Given the description of an element on the screen output the (x, y) to click on. 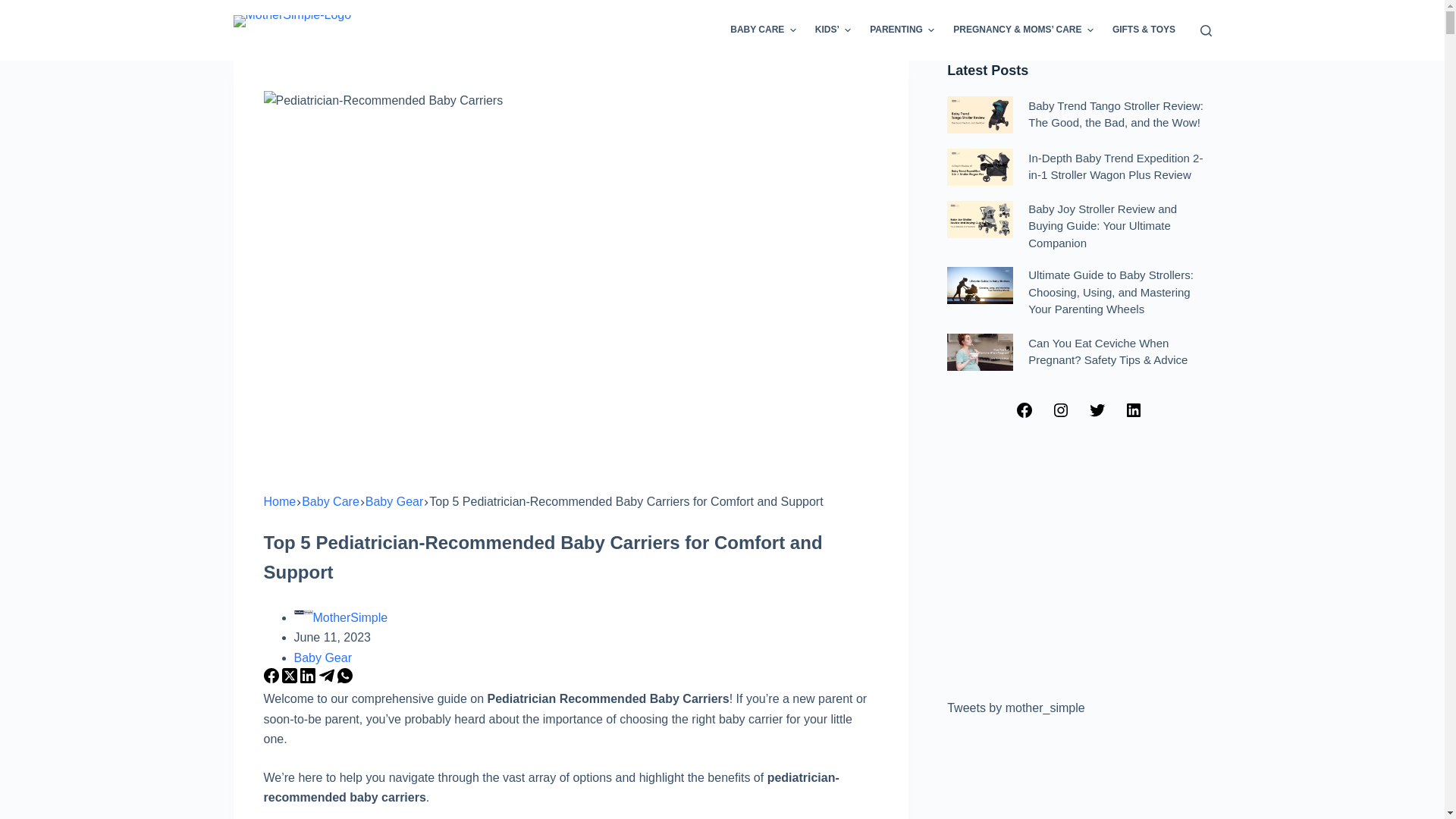
Skip to content (15, 7)
Posts by MotherSimple (350, 617)
Advertisement (1079, 561)
BABY CARE (763, 30)
